Given the description of an element on the screen output the (x, y) to click on. 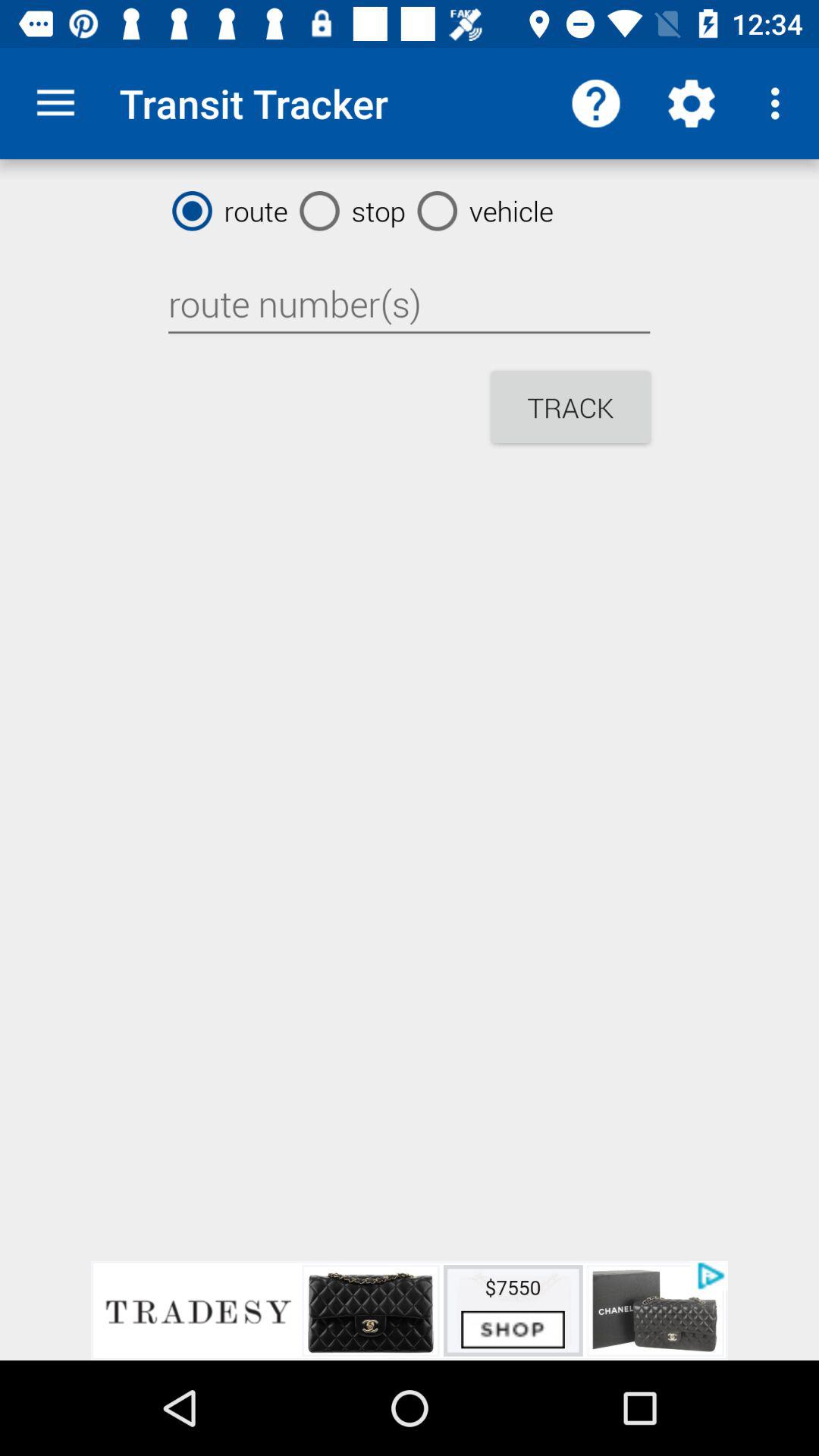
enter number (409, 304)
